Given the description of an element on the screen output the (x, y) to click on. 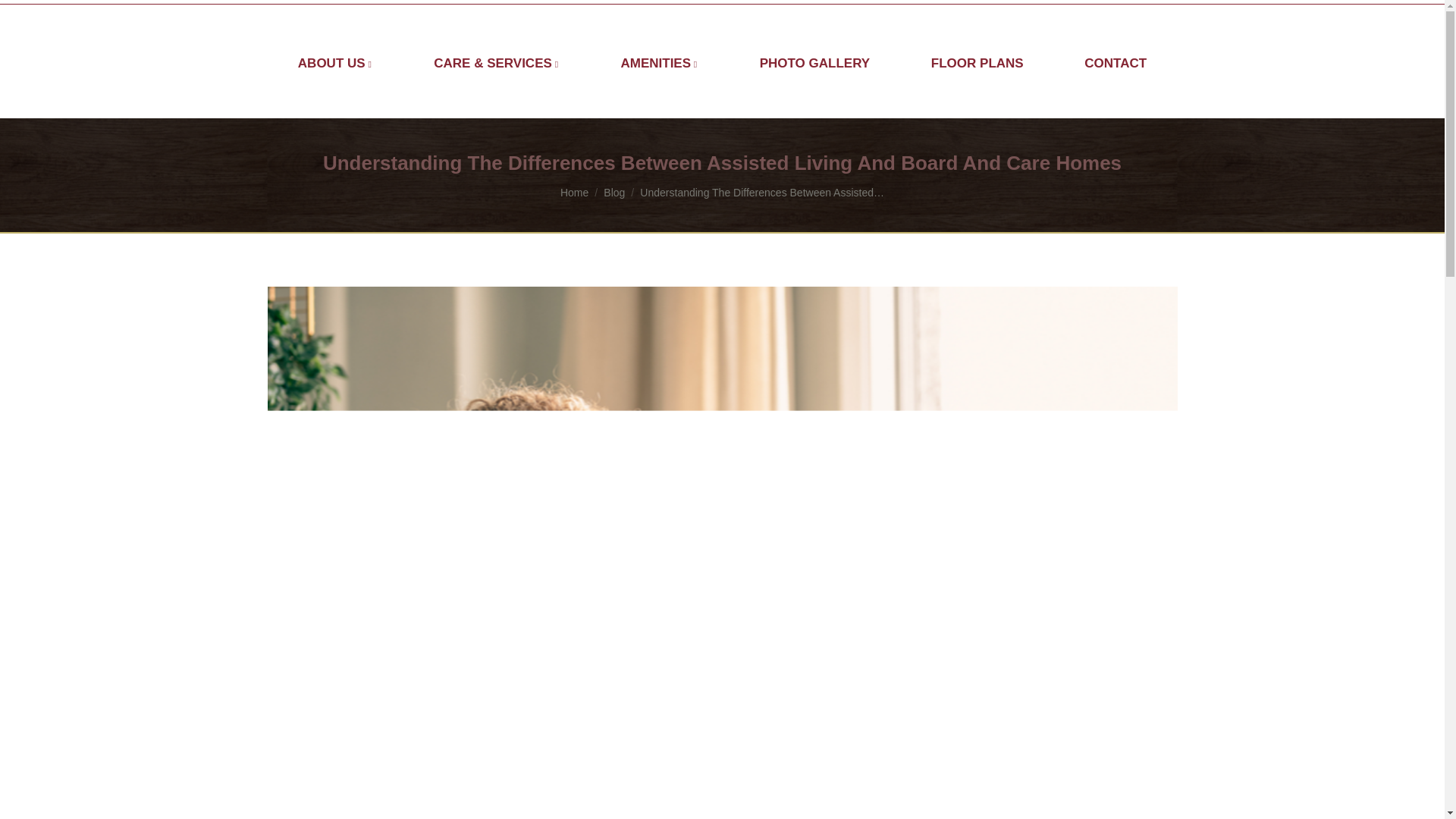
ABOUT US (335, 61)
Blog (614, 192)
AMENITIES (659, 61)
Home (574, 192)
PHOTO GALLERY (814, 61)
CONTACT (1115, 61)
FLOOR PLANS (977, 61)
